Given the description of an element on the screen output the (x, y) to click on. 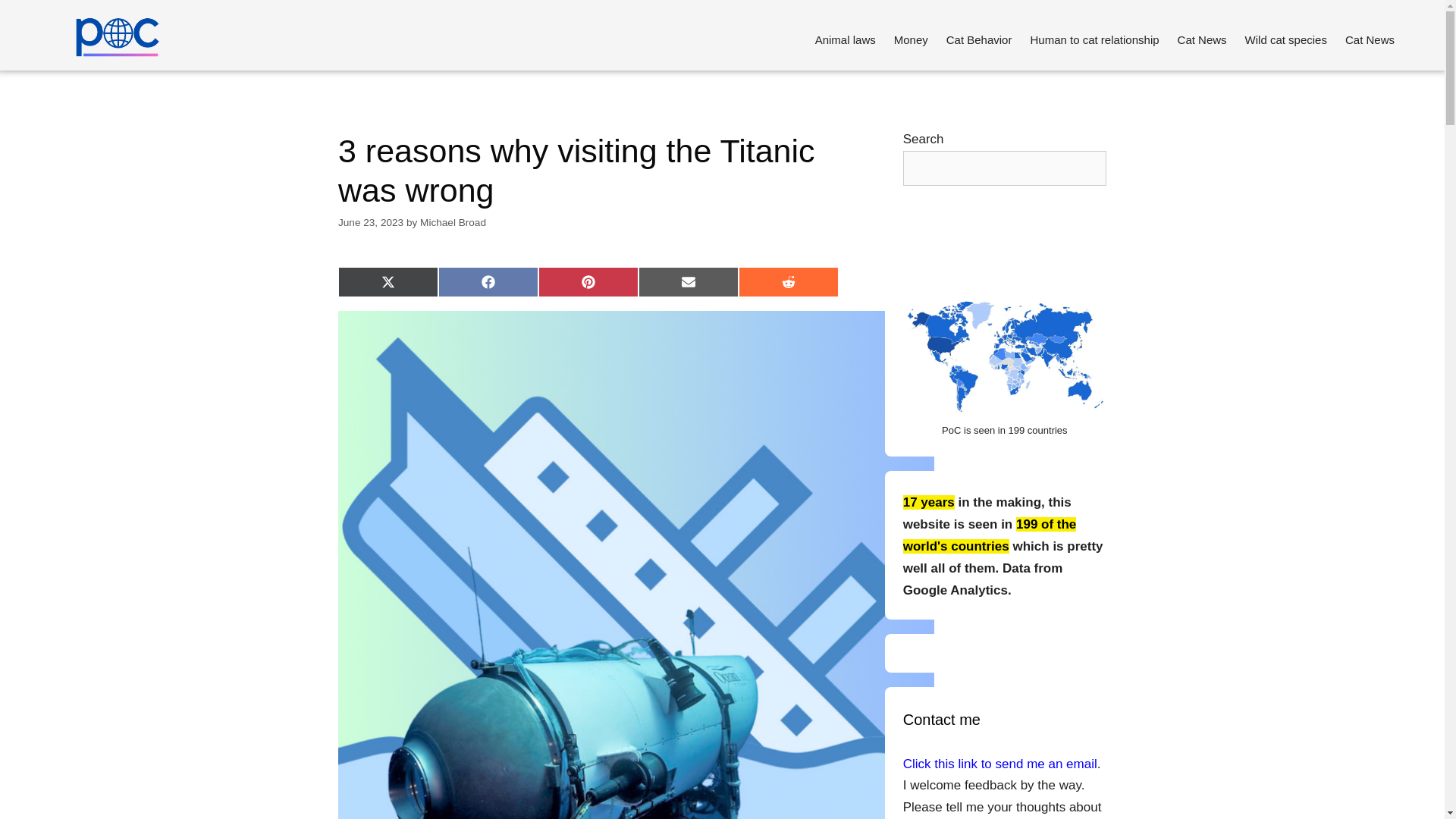
Share on Reddit (788, 281)
Share on Pinterest (588, 281)
Human to cat relationship (1093, 40)
Cat Behavior (979, 40)
Share on Facebook (488, 281)
Michael Broad (453, 222)
Animal laws (845, 40)
Wild cat species (1286, 40)
Money (911, 40)
Share on Email (688, 281)
Cat News (1369, 40)
View all posts by Michael Broad (453, 222)
Cat News (1202, 40)
